Given the description of an element on the screen output the (x, y) to click on. 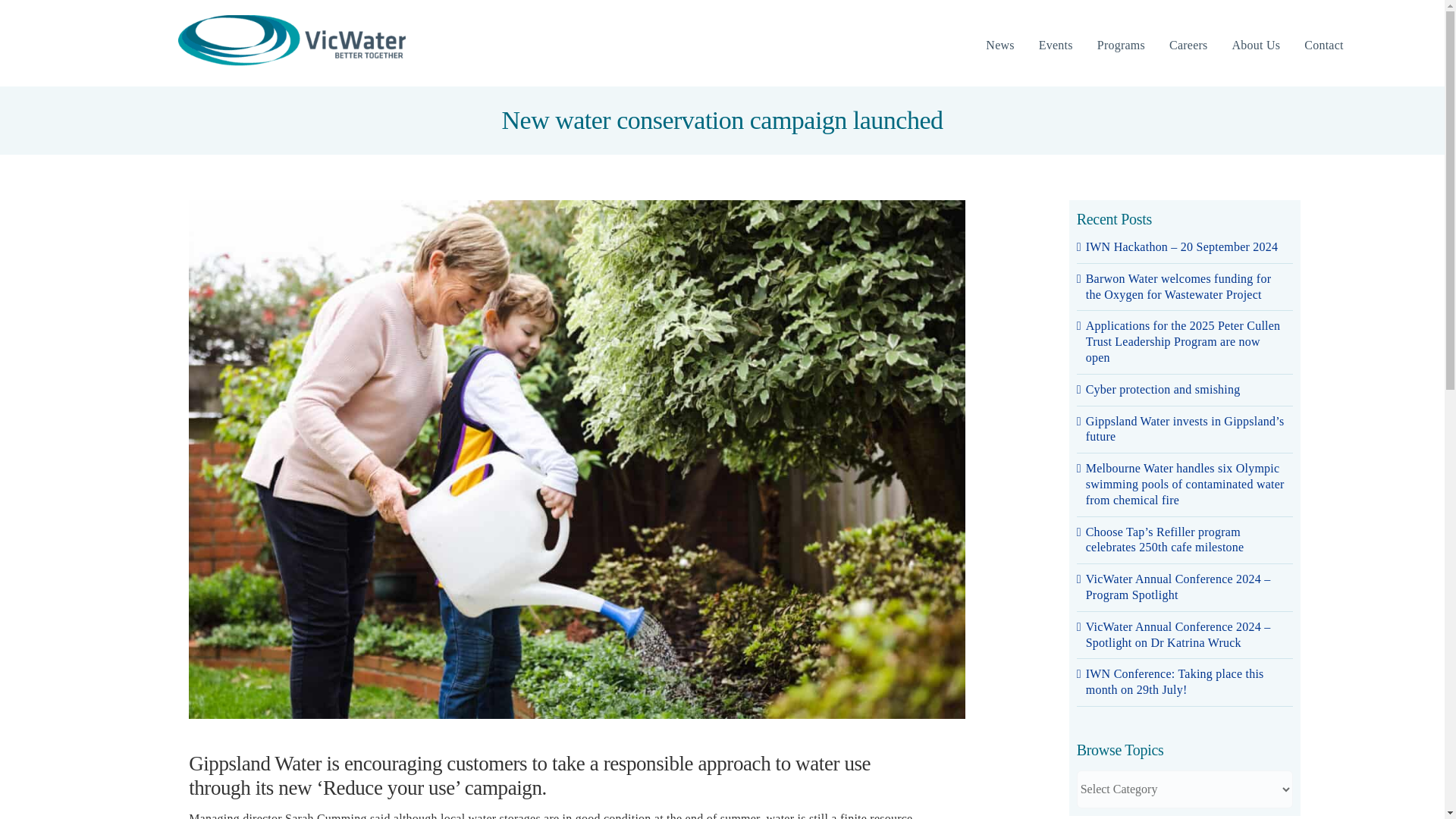
Programs (1120, 45)
News (999, 45)
Contact (1323, 45)
About Us (1256, 45)
Cyber protection and smishing (1163, 389)
Events (1056, 45)
IWN Conference: Taking place this month on 29th July! (1174, 681)
Careers (1188, 45)
